Given the description of an element on the screen output the (x, y) to click on. 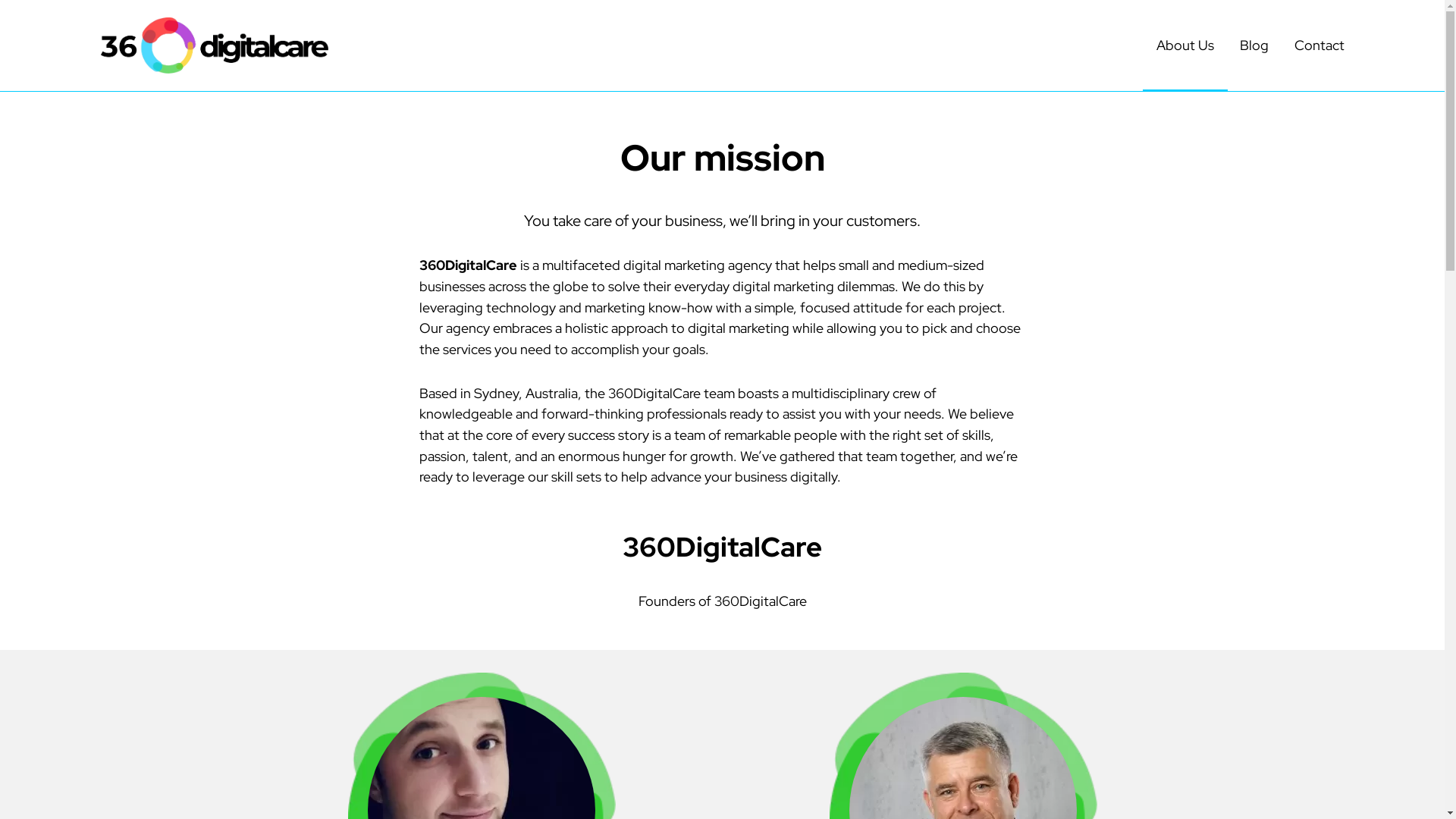
About Us Element type: text (1184, 45)
Blog Element type: text (1253, 45)
Contact Element type: text (1318, 45)
360 Digital Care Element type: text (213, 45)
